Given the description of an element on the screen output the (x, y) to click on. 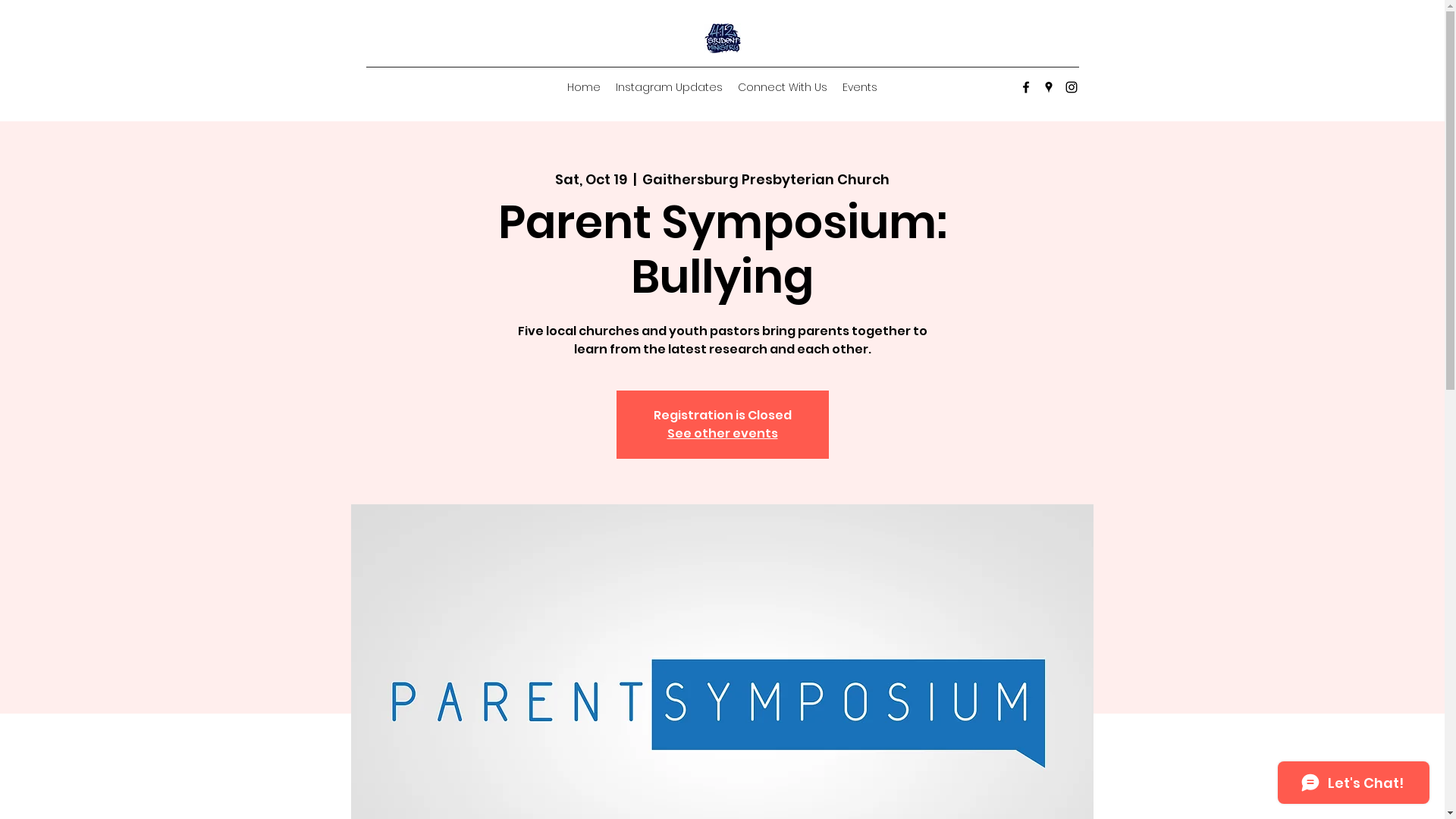
Instagram Updates Element type: text (669, 86)
Home Element type: text (583, 86)
Events Element type: text (859, 86)
See other events Element type: text (722, 433)
Connect With Us Element type: text (782, 86)
